Given the description of an element on the screen output the (x, y) to click on. 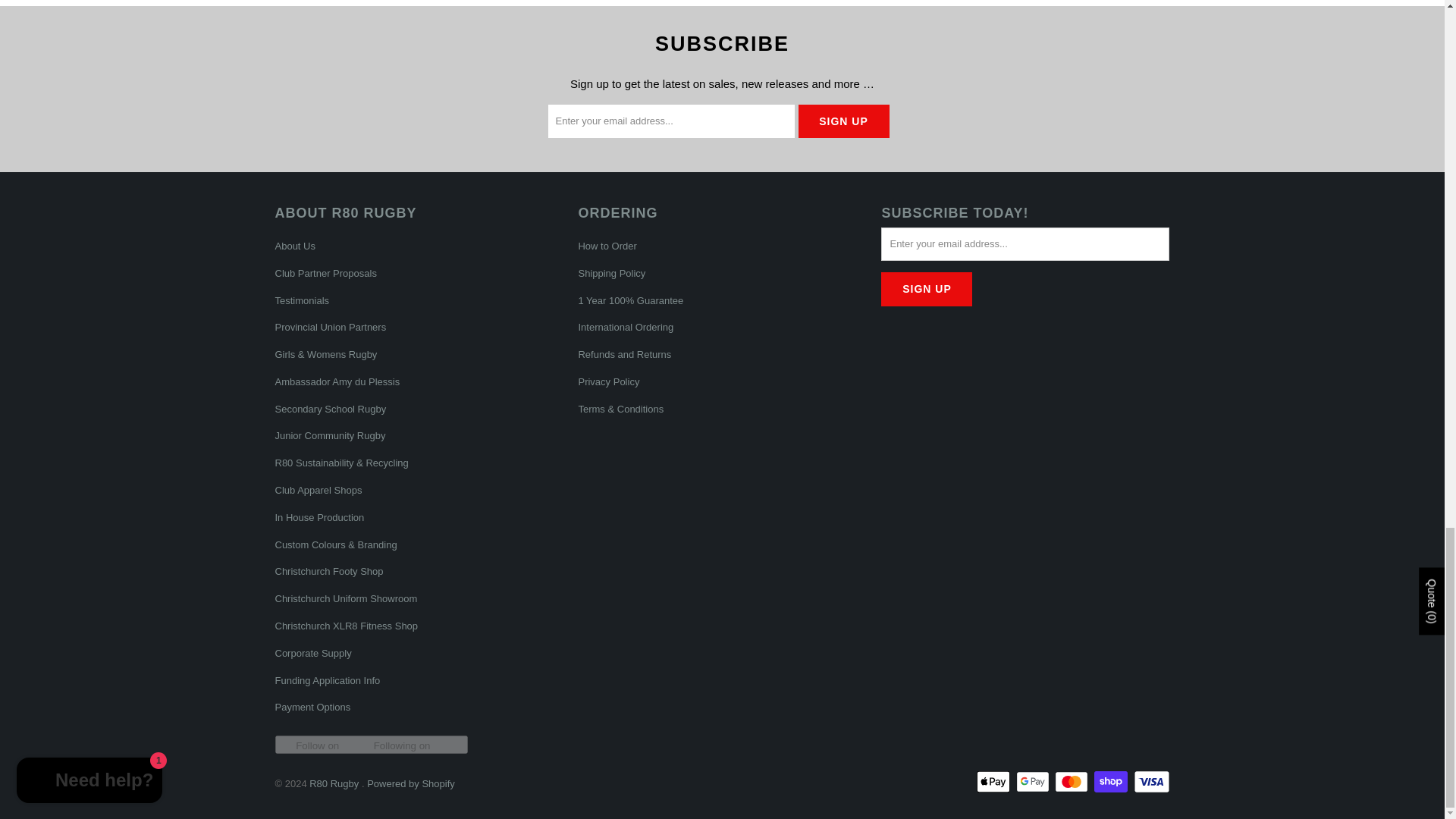
Sign Up (926, 288)
Mastercard (1072, 781)
Apple Pay (994, 781)
Shop Pay (1112, 781)
Google Pay (1034, 781)
Visa (1150, 781)
Sign Up (842, 121)
